Given the description of an element on the screen output the (x, y) to click on. 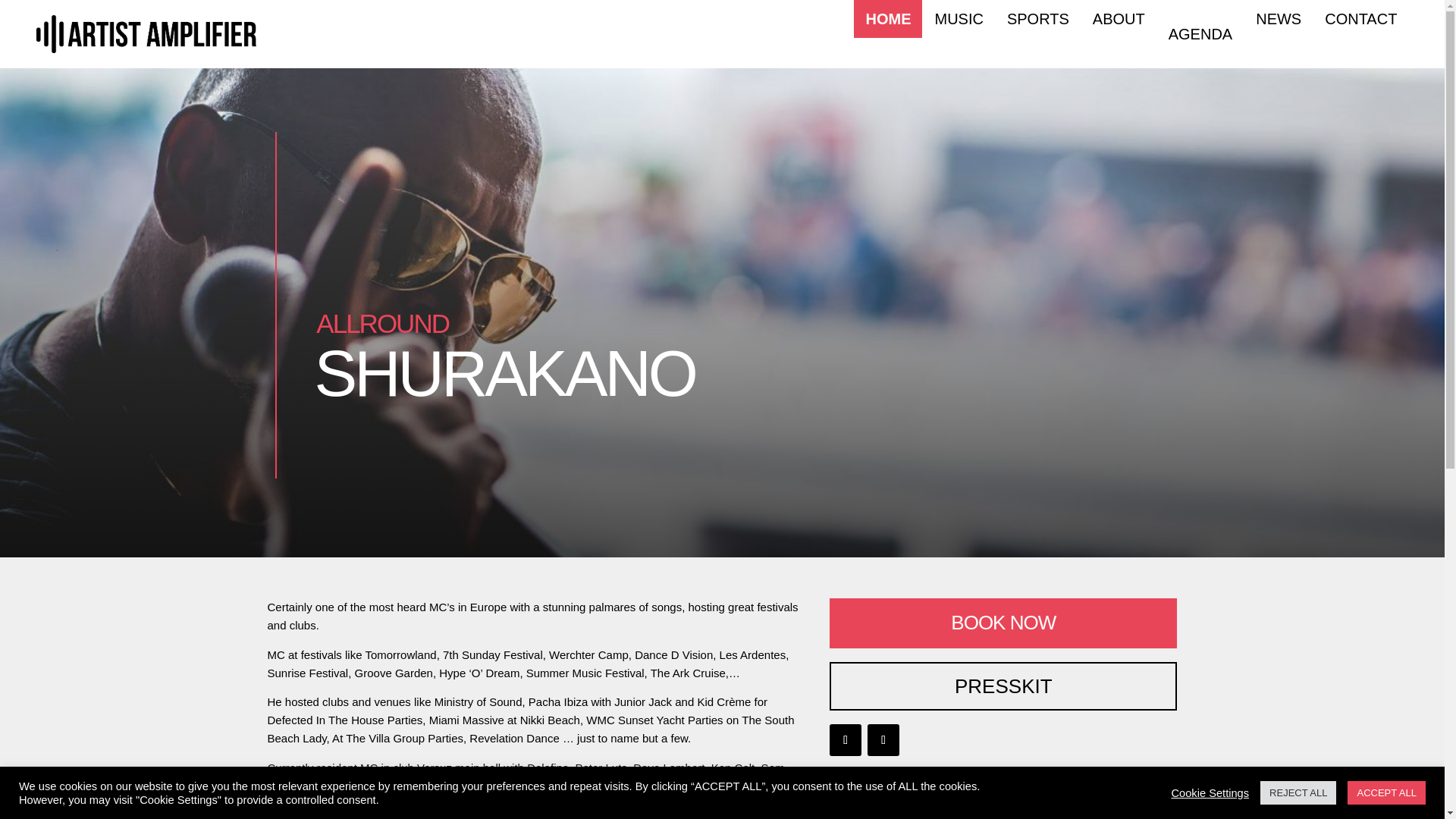
NEWS (1278, 18)
Follow on Instagram (883, 739)
AGENDA (1200, 33)
MUSIC (958, 18)
BOOK NOW (1002, 623)
CONTACT (1360, 18)
ABOUT (1118, 18)
Follow on Facebook (845, 739)
PRESSKIT (1002, 685)
SPORTS (1037, 18)
ALLROUND (381, 323)
HOME (887, 18)
